Given the description of an element on the screen output the (x, y) to click on. 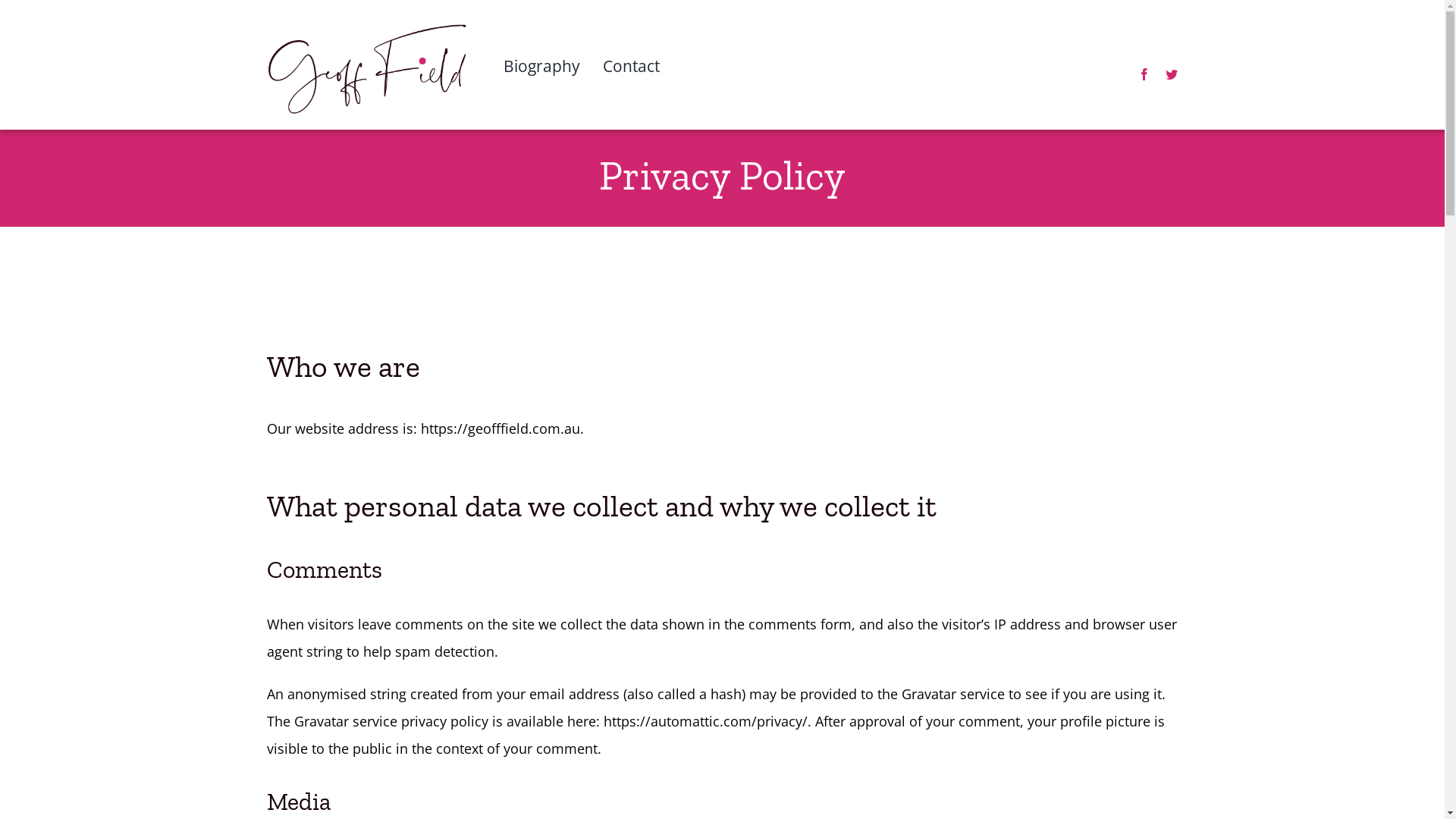
Biography Element type: text (541, 89)
Contact Element type: text (630, 89)
